Given the description of an element on the screen output the (x, y) to click on. 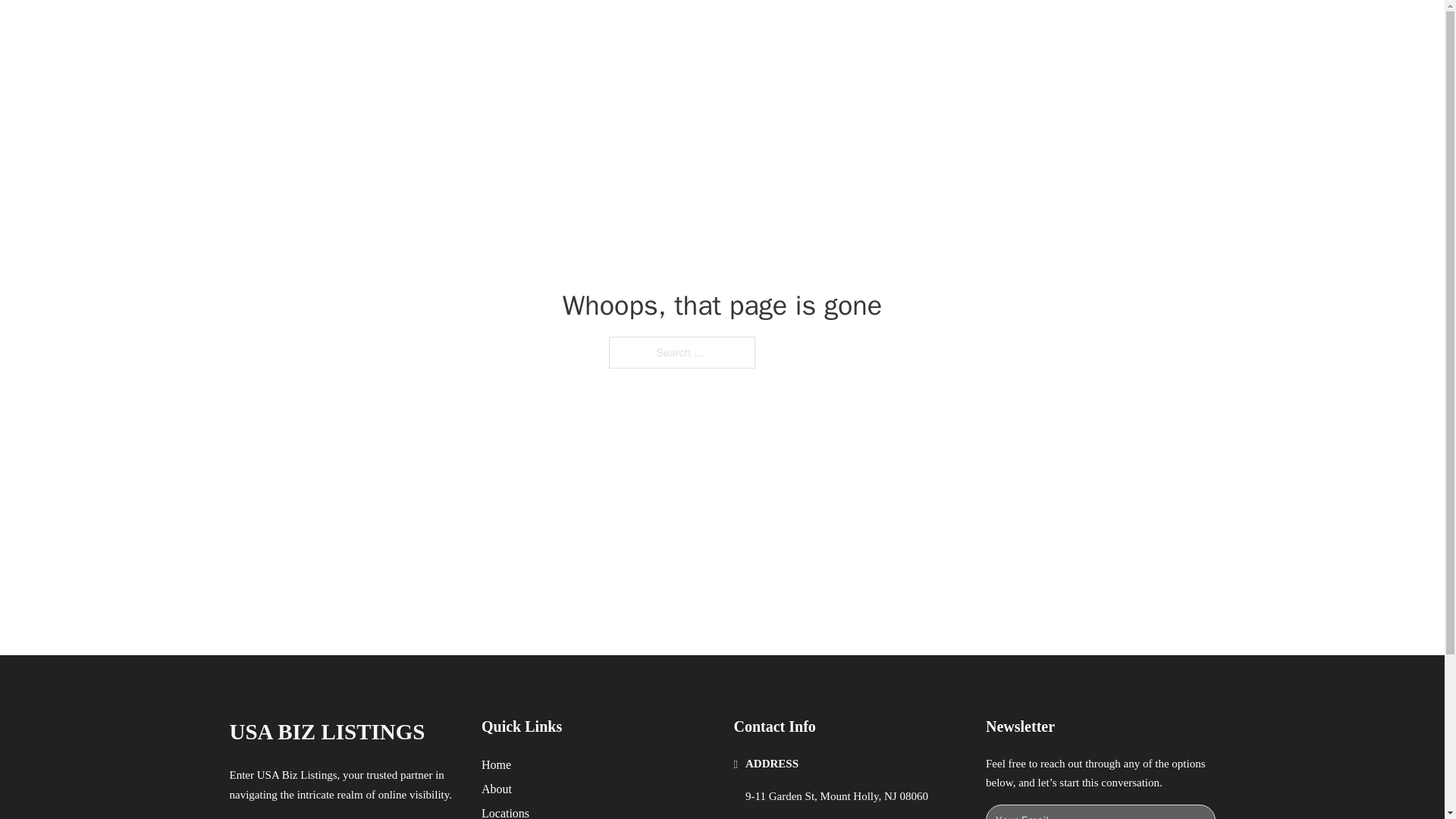
HOME (919, 29)
Locations (505, 811)
About (496, 788)
USA Biz Listings (392, 28)
USA BIZ LISTINGS (326, 732)
LOCATIONS (990, 29)
Home (496, 764)
